Given the description of an element on the screen output the (x, y) to click on. 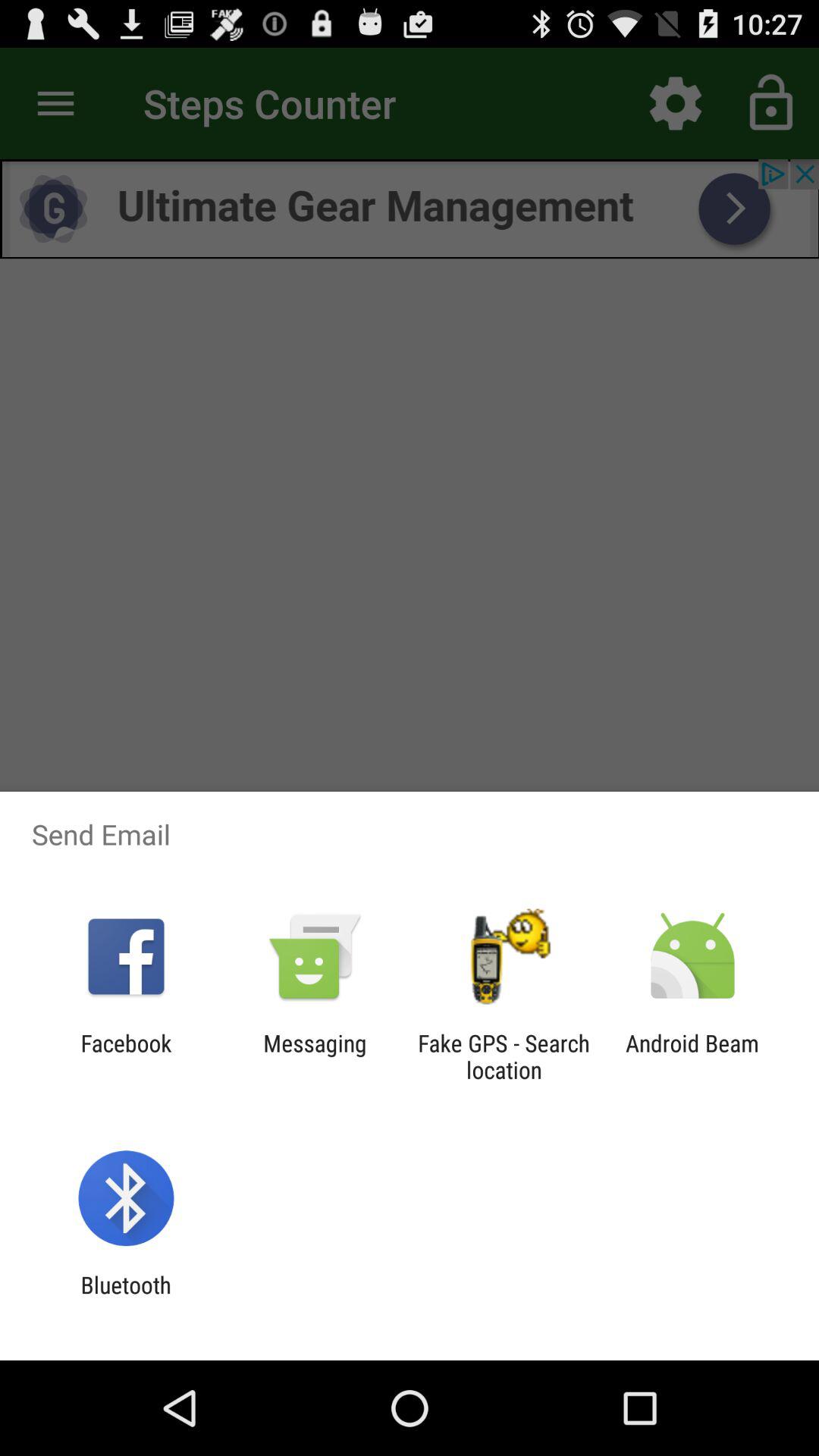
turn off android beam item (692, 1056)
